Given the description of an element on the screen output the (x, y) to click on. 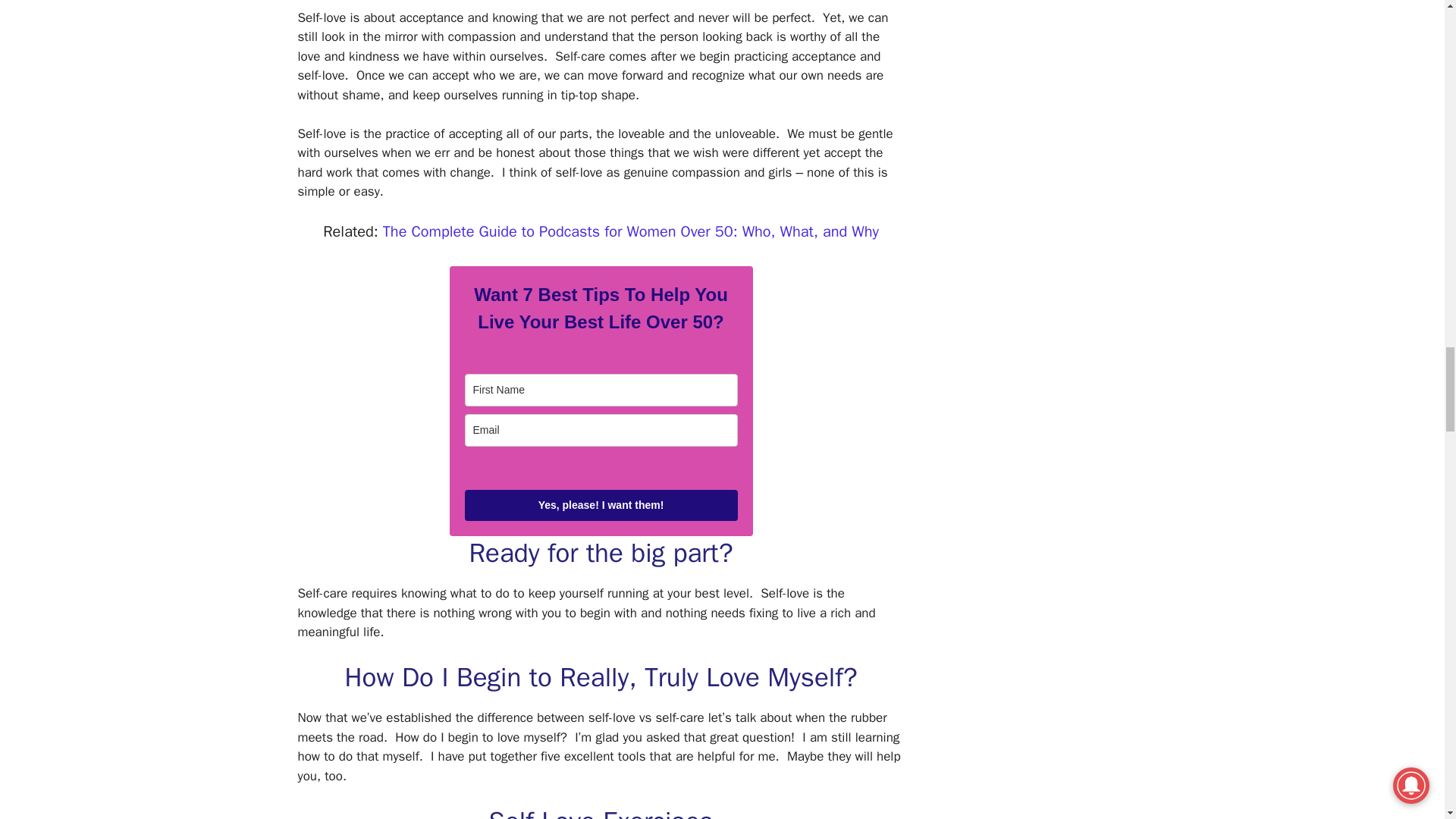
Yes, please! I want them! (600, 504)
